Given the description of an element on the screen output the (x, y) to click on. 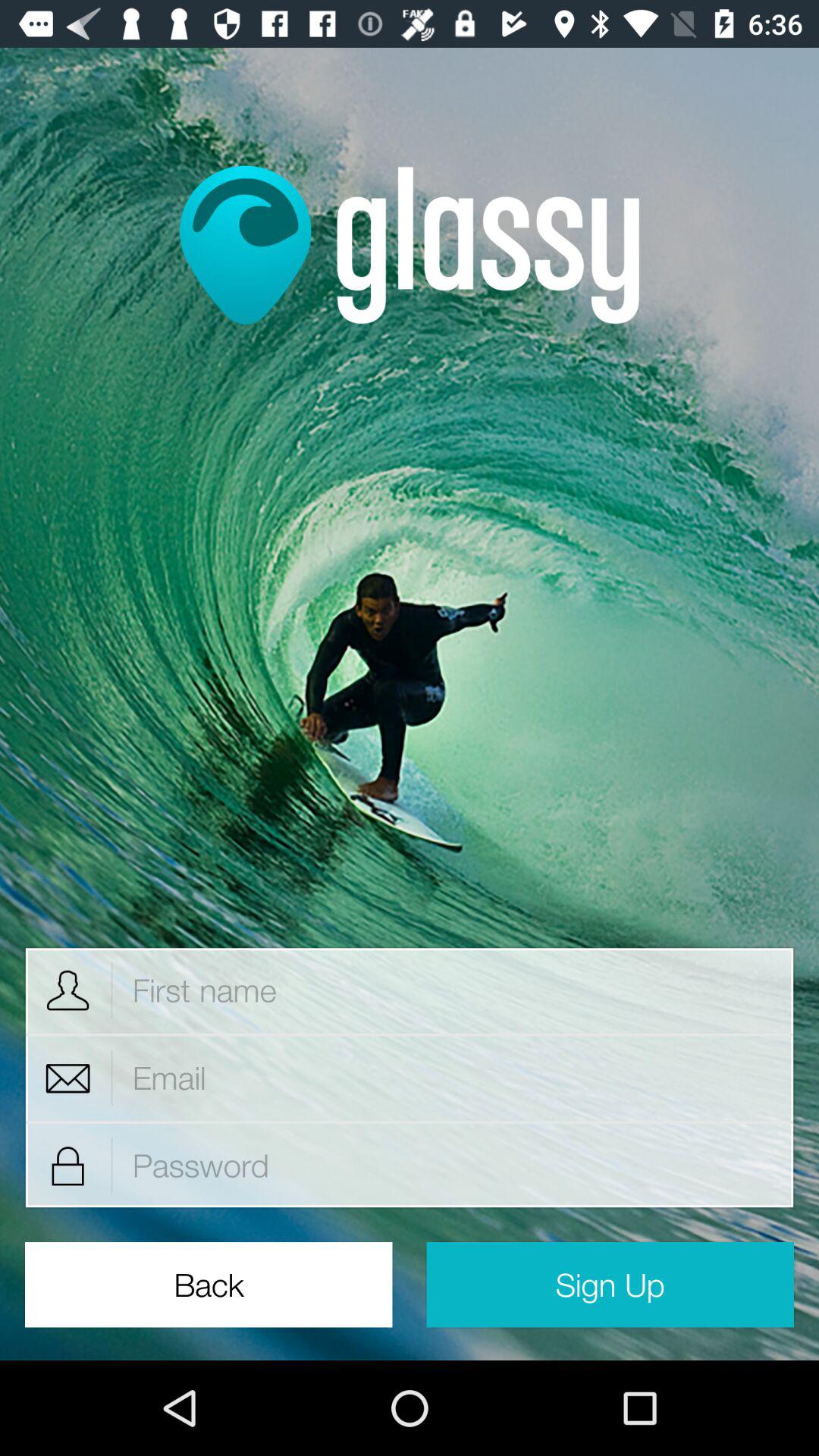
enter an email address (453, 1077)
